Given the description of an element on the screen output the (x, y) to click on. 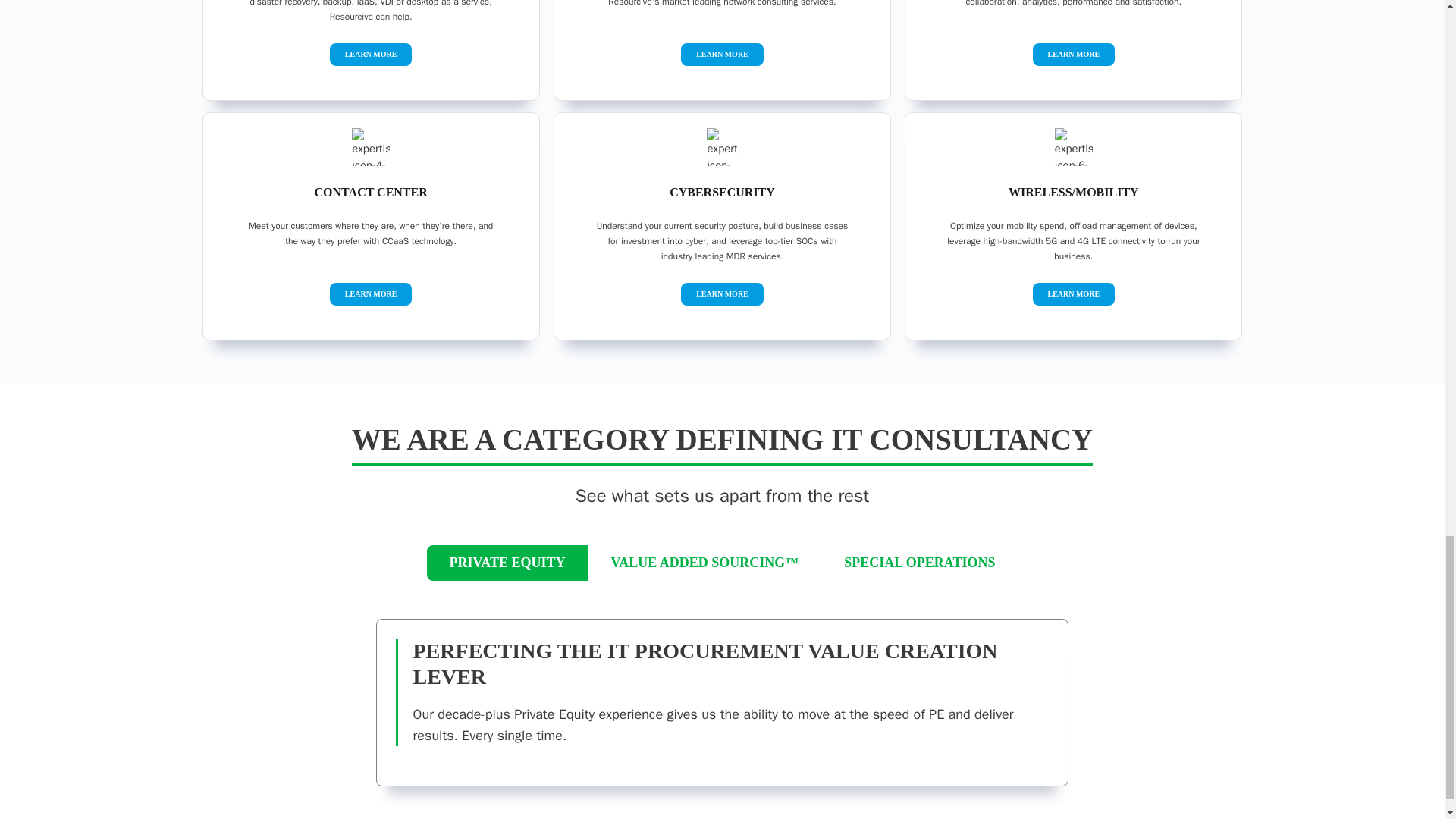
LEARN MORE (721, 53)
LEARN MORE (1074, 293)
SPECIAL OPERATIONS (919, 562)
LEARN MORE (371, 53)
PRIVATE EQUITY (507, 562)
LEARN MORE (721, 293)
LEARN MORE (371, 293)
LEARN MORE (1074, 53)
